Given the description of an element on the screen output the (x, y) to click on. 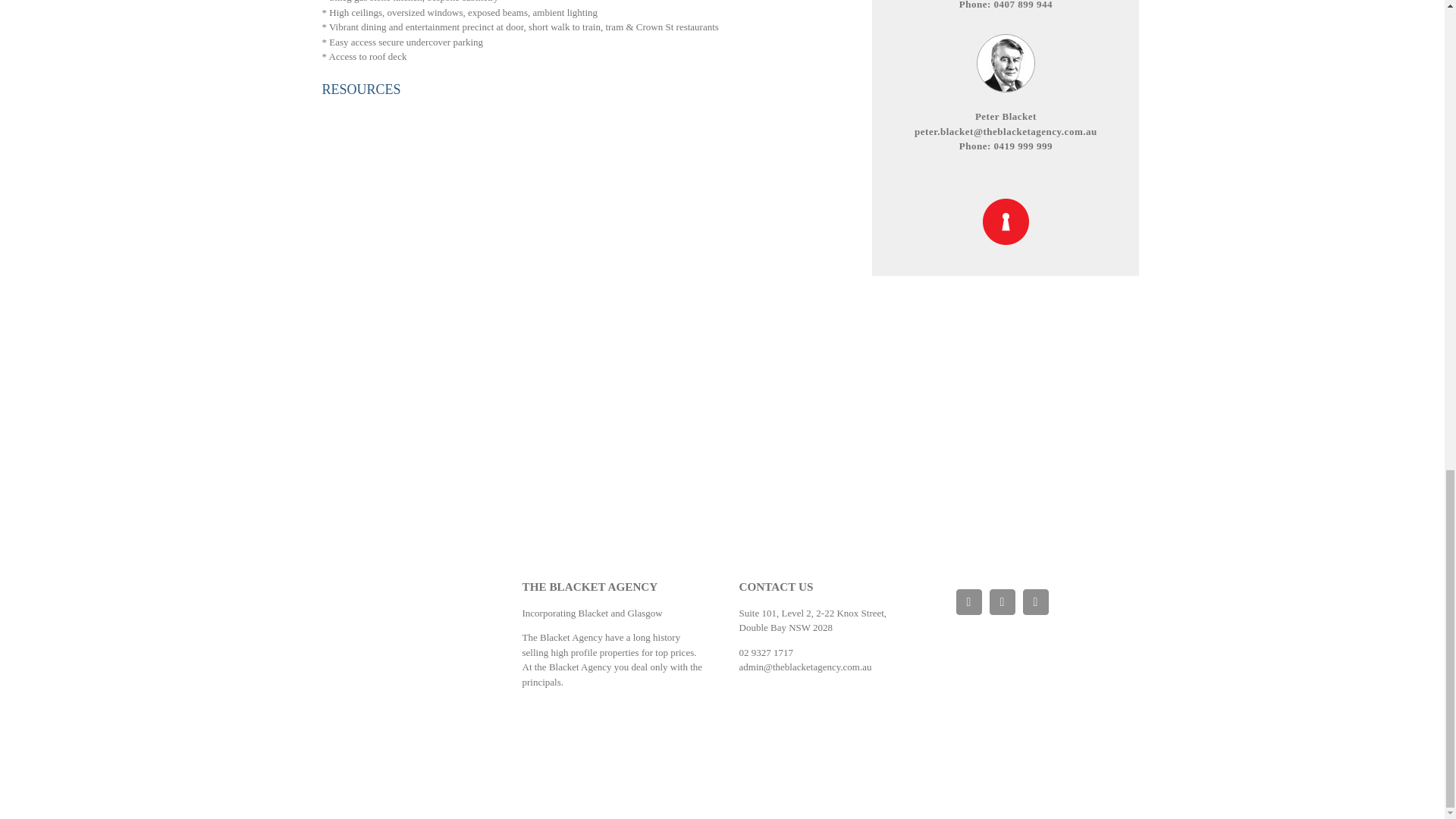
Base Digital (1010, 638)
